Given the description of an element on the screen output the (x, y) to click on. 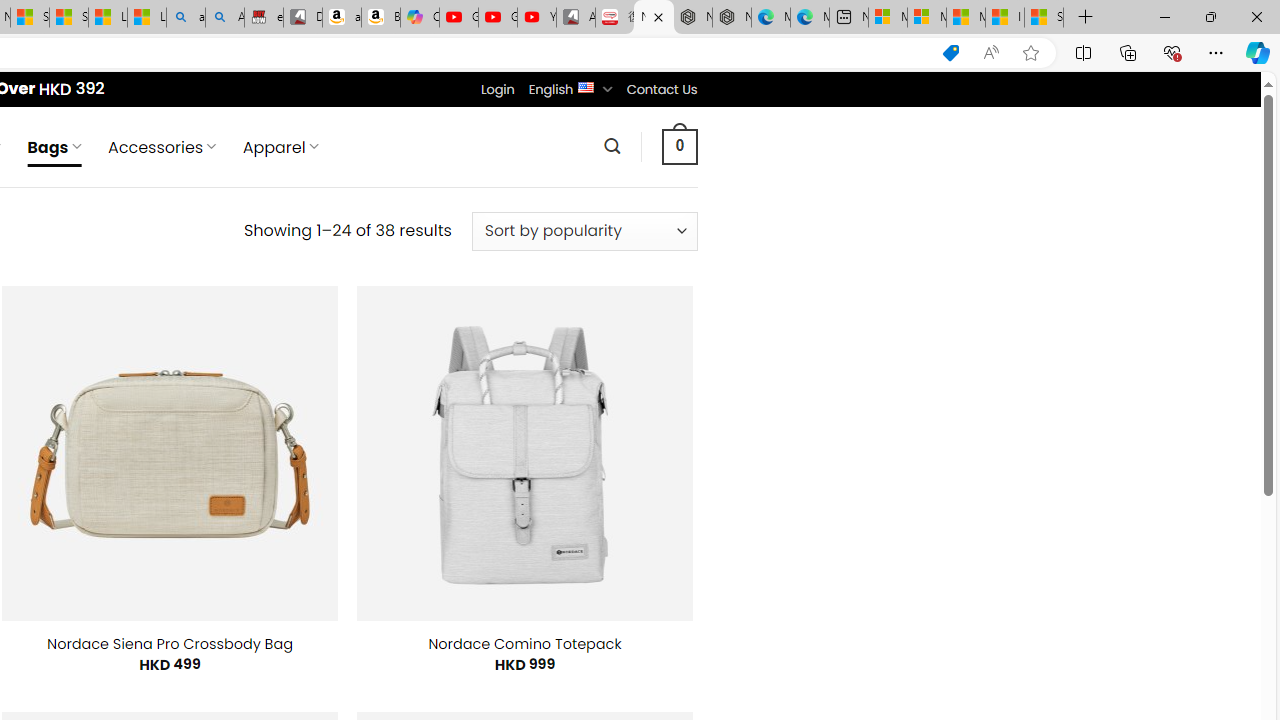
Login (497, 89)
Amazon Echo Dot PNG - Search Images (225, 17)
YouTube Kids - An App Created for Kids to Explore Content (536, 17)
English (586, 86)
Nordace Siena Pro Crossbody Bag (170, 643)
